Given the description of an element on the screen output the (x, y) to click on. 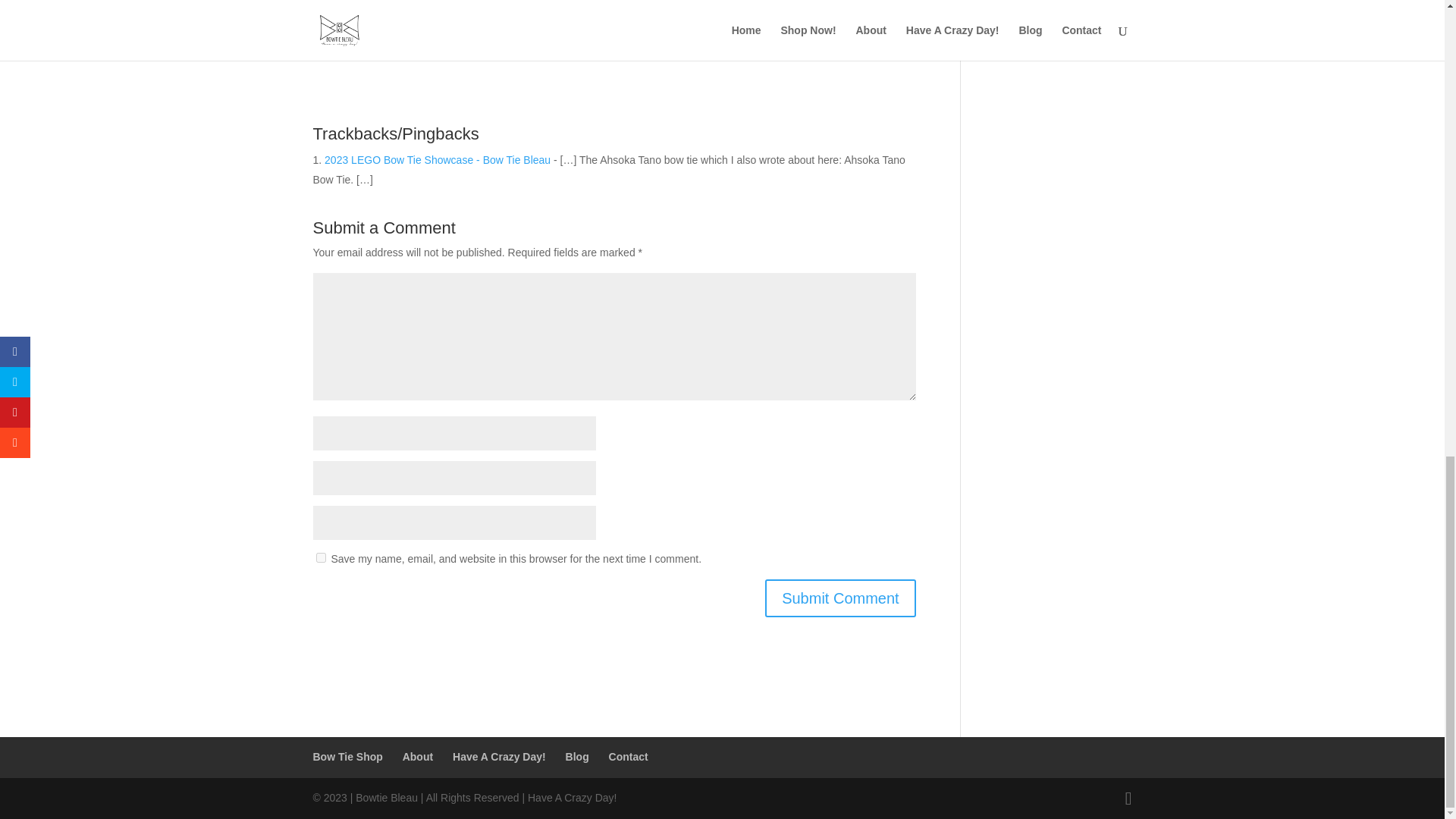
Contact (627, 756)
LEGO Bow Tie Minifigures - The definitive list (394, 7)
yes (319, 557)
Have A Crazy Day! (499, 756)
About (417, 756)
Submit Comment (840, 598)
Blog (577, 756)
Submit Comment (840, 598)
Bow Tie Shop (347, 756)
2023 LEGO Bow Tie Showcase - Bow Tie Bleau (437, 159)
